Given the description of an element on the screen output the (x, y) to click on. 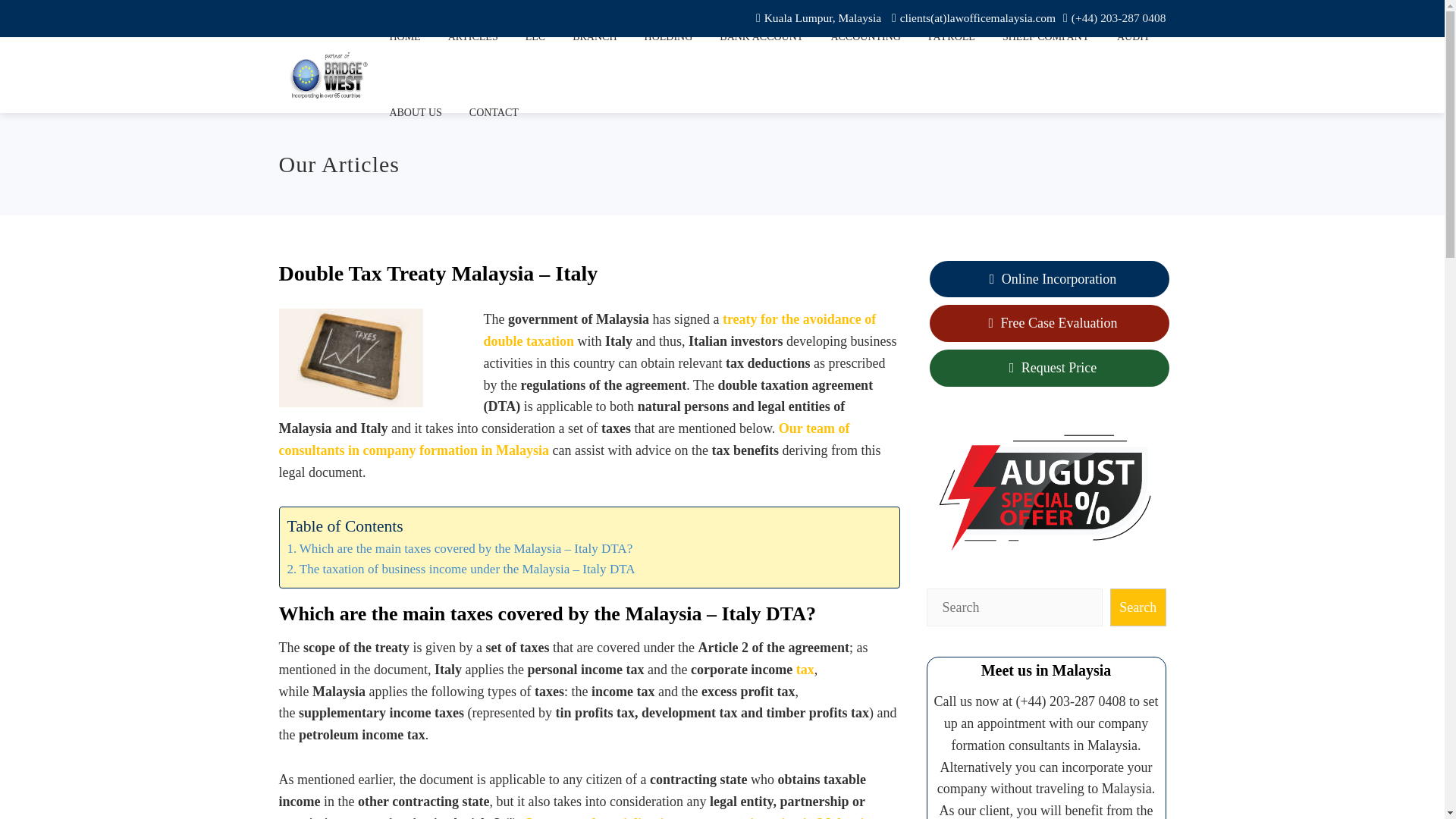
treaty for the avoidance of double taxation (679, 330)
Our team of consultants in company formation in Malaysia (564, 438)
BANK ACCOUNT (760, 37)
ARTICLES (472, 37)
CONTACT (493, 112)
ACCOUNTING (865, 37)
tax (804, 669)
ABOUT US (414, 112)
SHELF COMPANY (1045, 37)
PAYROLL (952, 37)
